Given the description of an element on the screen output the (x, y) to click on. 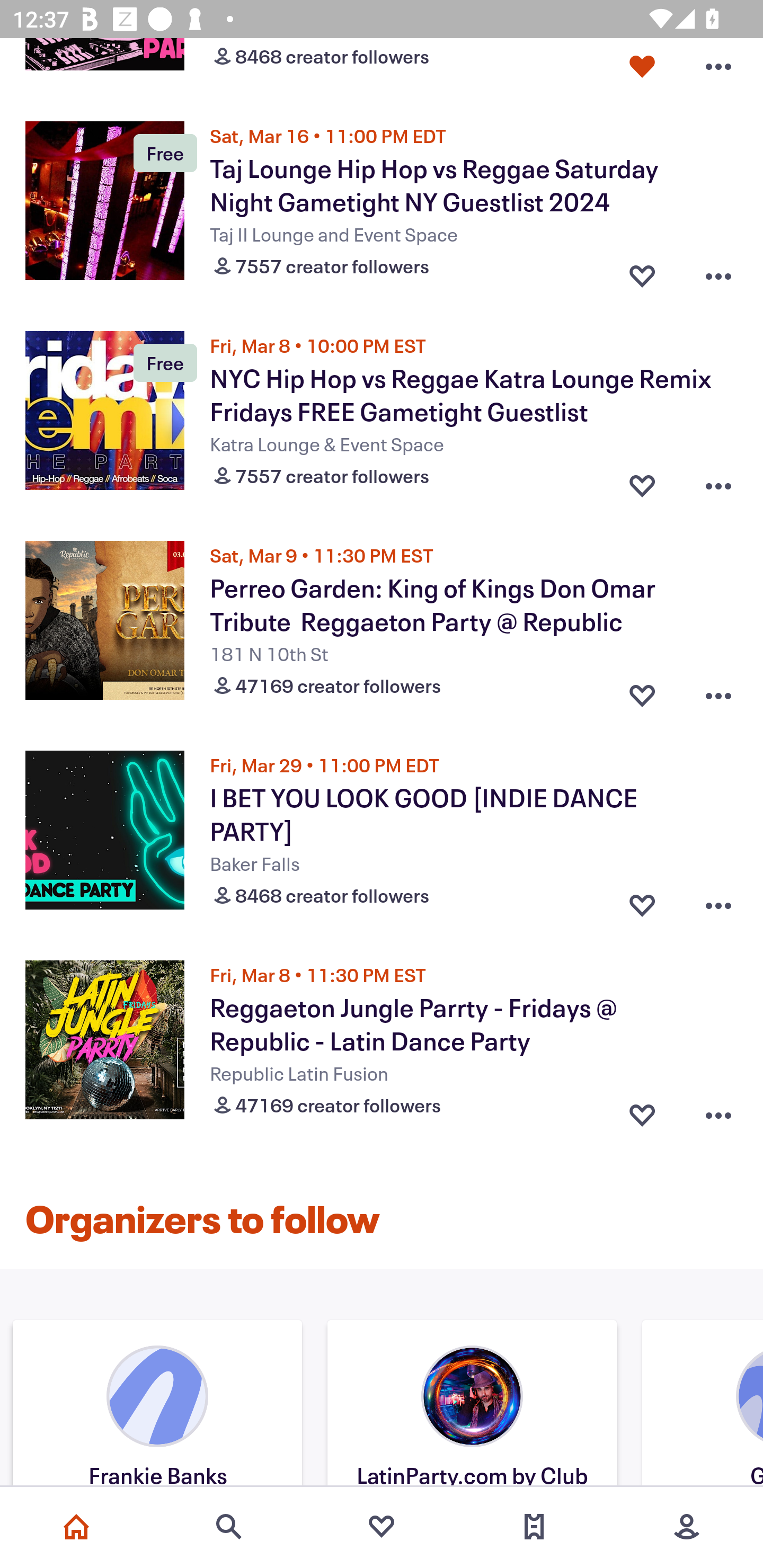
Favorite button (642, 66)
Overflow menu button (718, 66)
Favorite button (642, 271)
Overflow menu button (718, 271)
Favorite button (642, 481)
Overflow menu button (718, 481)
Favorite button (642, 691)
Overflow menu button (718, 691)
Favorite button (642, 900)
Overflow menu button (718, 900)
Favorite button (642, 1110)
Overflow menu button (718, 1110)
Organizer's image Frankie Banks (157, 1405)
Organizer's image LatinParty.com by Club Cache (471, 1405)
Home (76, 1526)
Search events (228, 1526)
Favorites (381, 1526)
Tickets (533, 1526)
More (686, 1526)
